Given the description of an element on the screen output the (x, y) to click on. 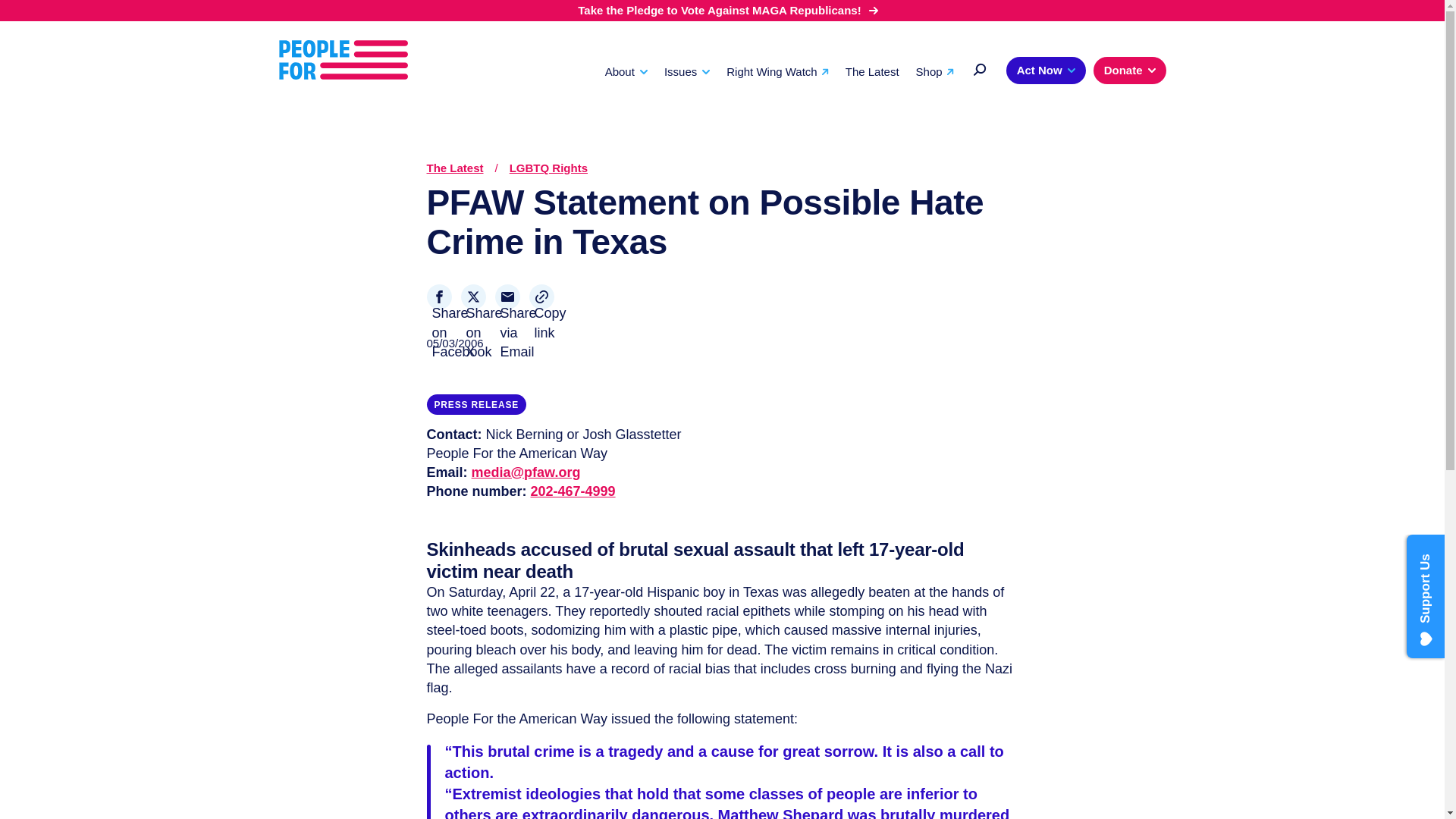
The Latest (872, 71)
Issues (686, 71)
Share to X (473, 296)
Shop (934, 71)
About (626, 71)
Right Wing Watch (777, 71)
Share to Facebook (438, 296)
Share to Email (507, 296)
Donate (1129, 70)
Act Now (1046, 70)
Home (343, 59)
